Given the description of an element on the screen output the (x, y) to click on. 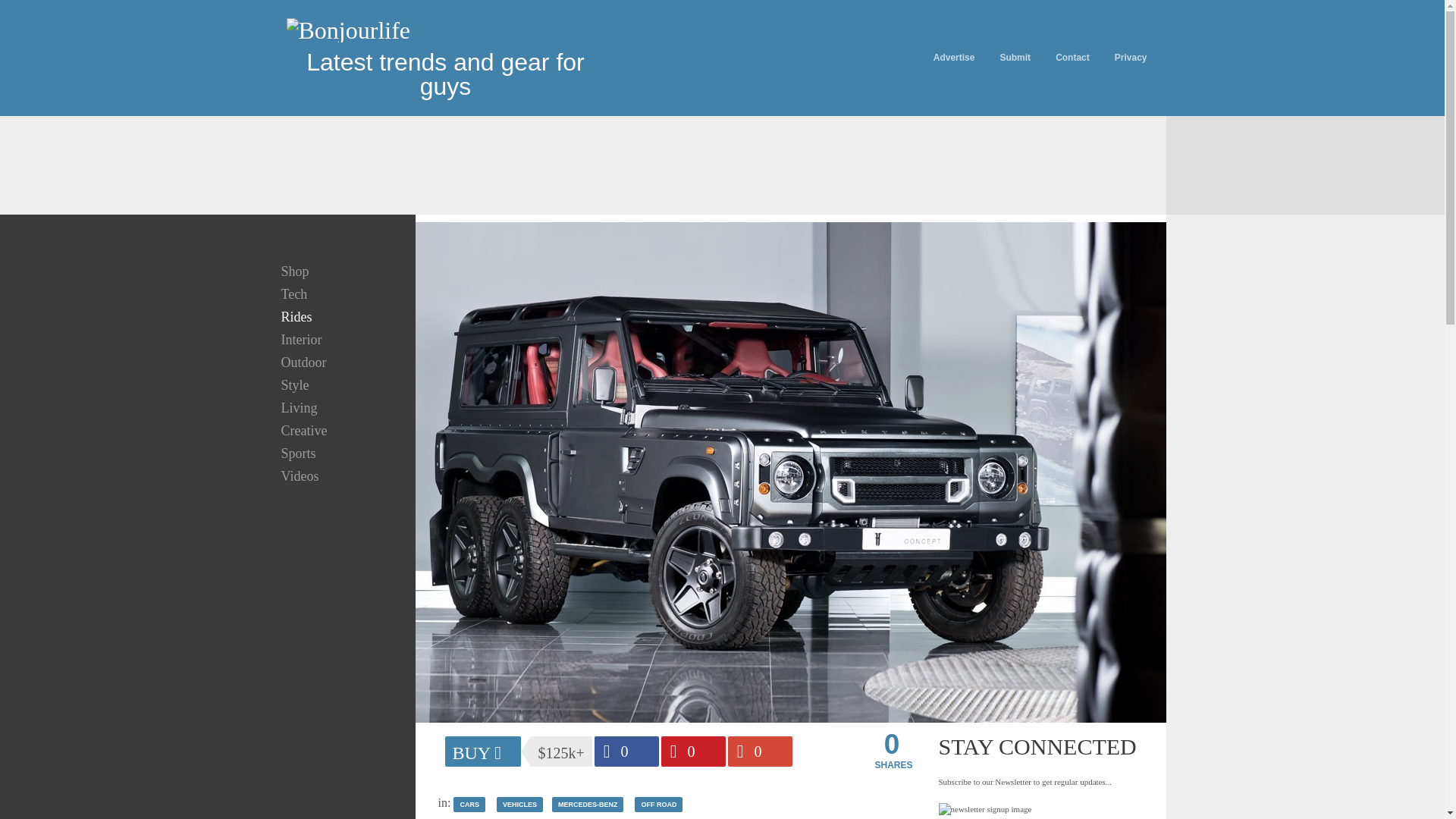
Tech (293, 294)
Rides (296, 316)
Facebook (626, 751)
Pinterest (693, 751)
Shop (293, 271)
Privacy (1130, 57)
Advertise (954, 57)
Interior (300, 339)
Contact (1071, 57)
GooglePlus (760, 751)
Outdoor (302, 362)
Style (293, 385)
Submit (1015, 57)
